Given the description of an element on the screen output the (x, y) to click on. 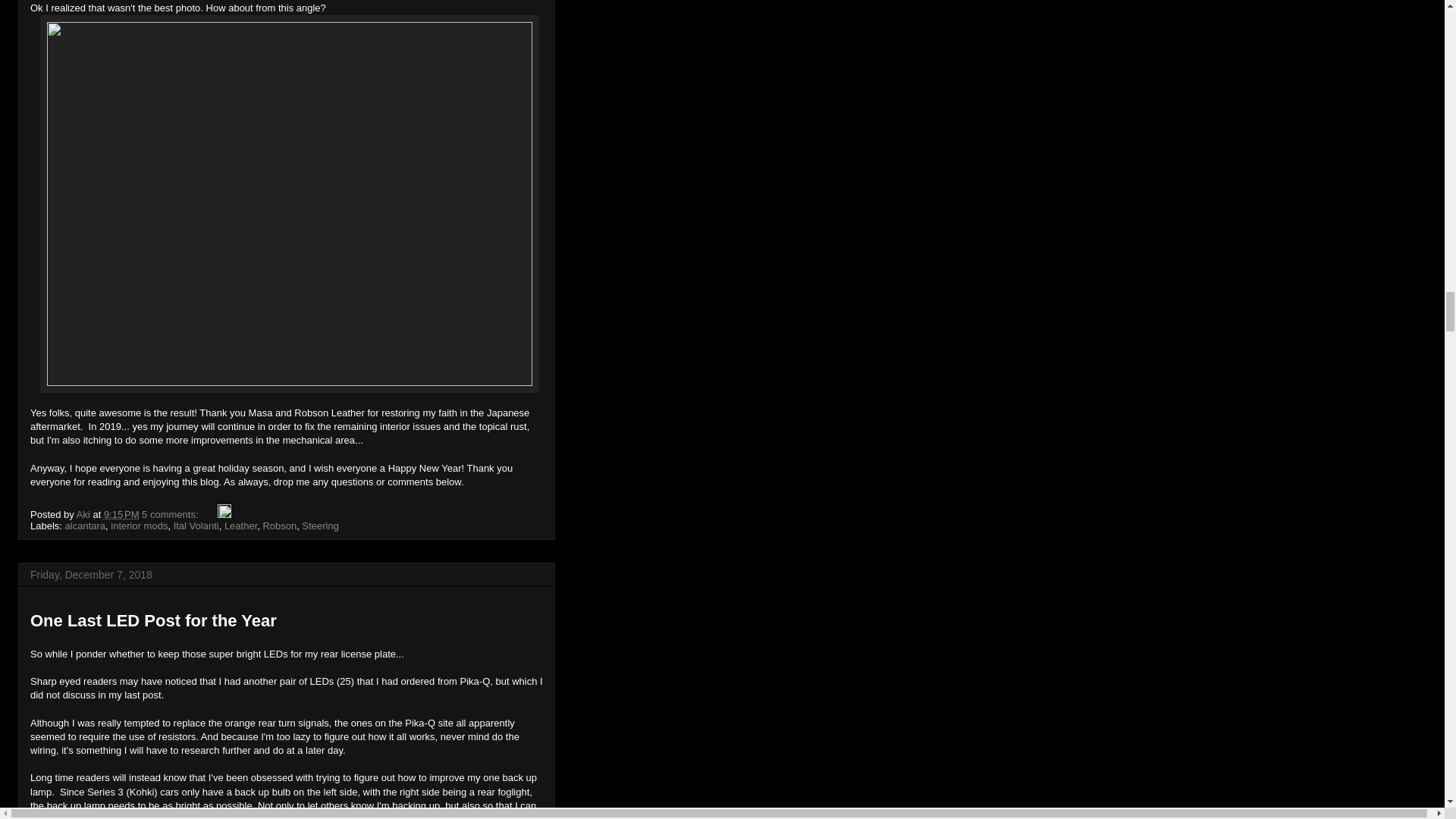
Robson (279, 525)
author profile (85, 514)
5 comments: (170, 514)
interior mods (138, 525)
Leather (240, 525)
Edit Post (223, 514)
Aki (85, 514)
Email Post (208, 514)
Steering (320, 525)
Ital Volanti (196, 525)
One Last LED Post for the Year (153, 619)
permanent link (121, 514)
alcantara (84, 525)
